Given the description of an element on the screen output the (x, y) to click on. 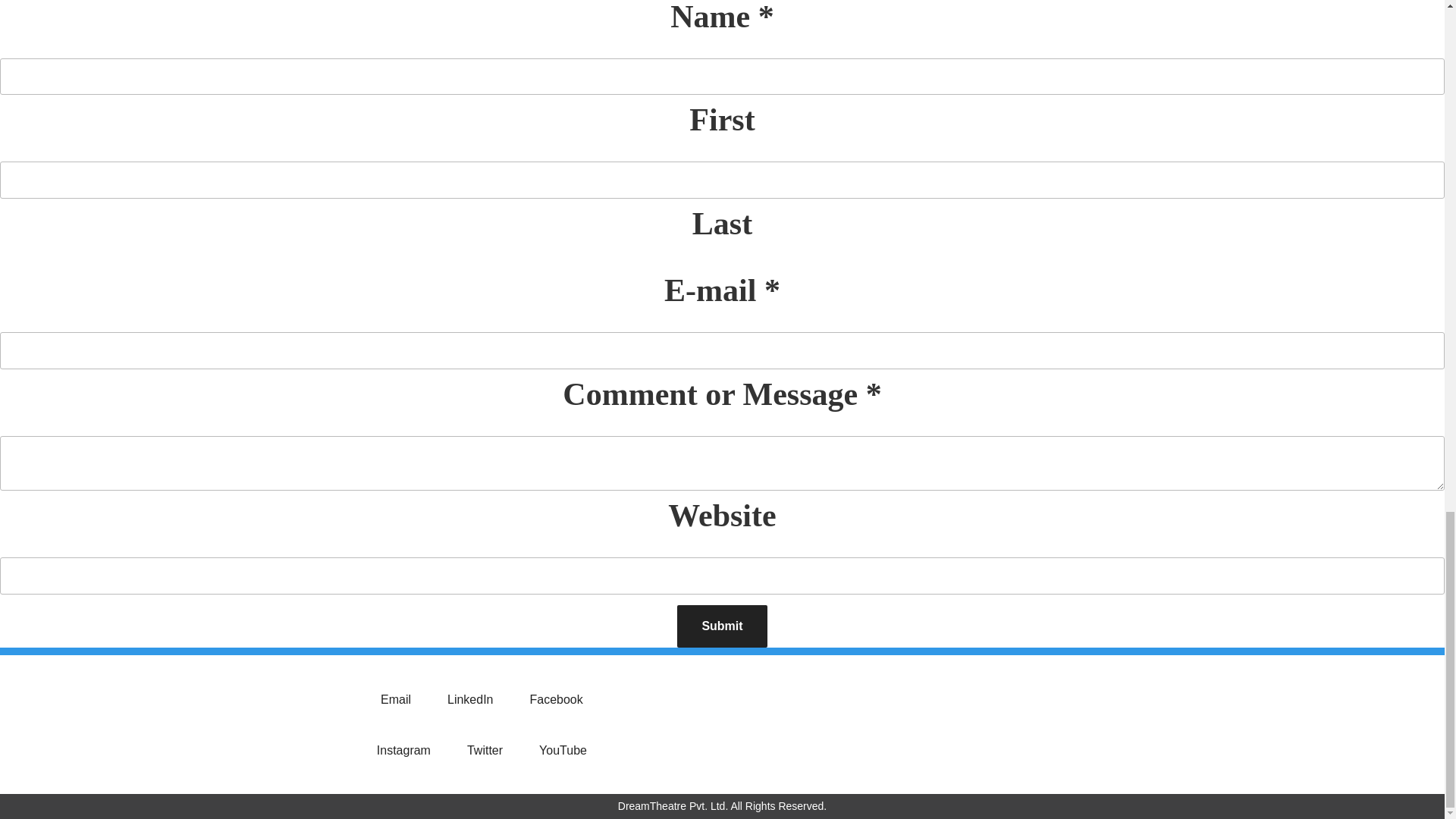
Email (401, 695)
Instagram (409, 746)
Submit (722, 626)
DreamTheatre Pvt. Ltd. (673, 805)
LinkedIn (475, 695)
YouTube (568, 746)
Twitter (491, 746)
Facebook (561, 695)
